Given the description of an element on the screen output the (x, y) to click on. 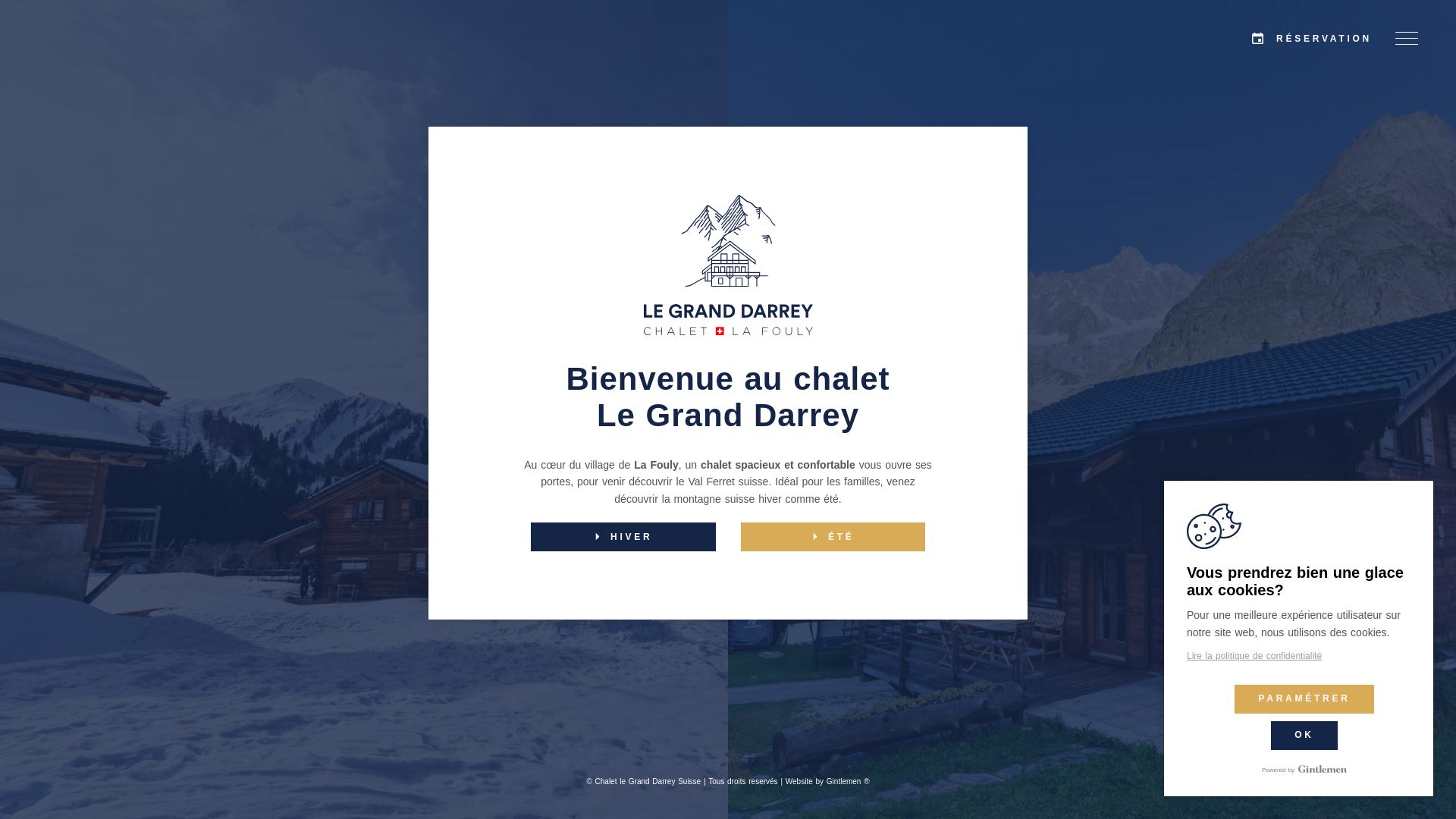
Powered by Element type: text (1303, 769)
OK Element type: text (1303, 735)
HIVER Element type: text (622, 536)
